Given the description of an element on the screen output the (x, y) to click on. 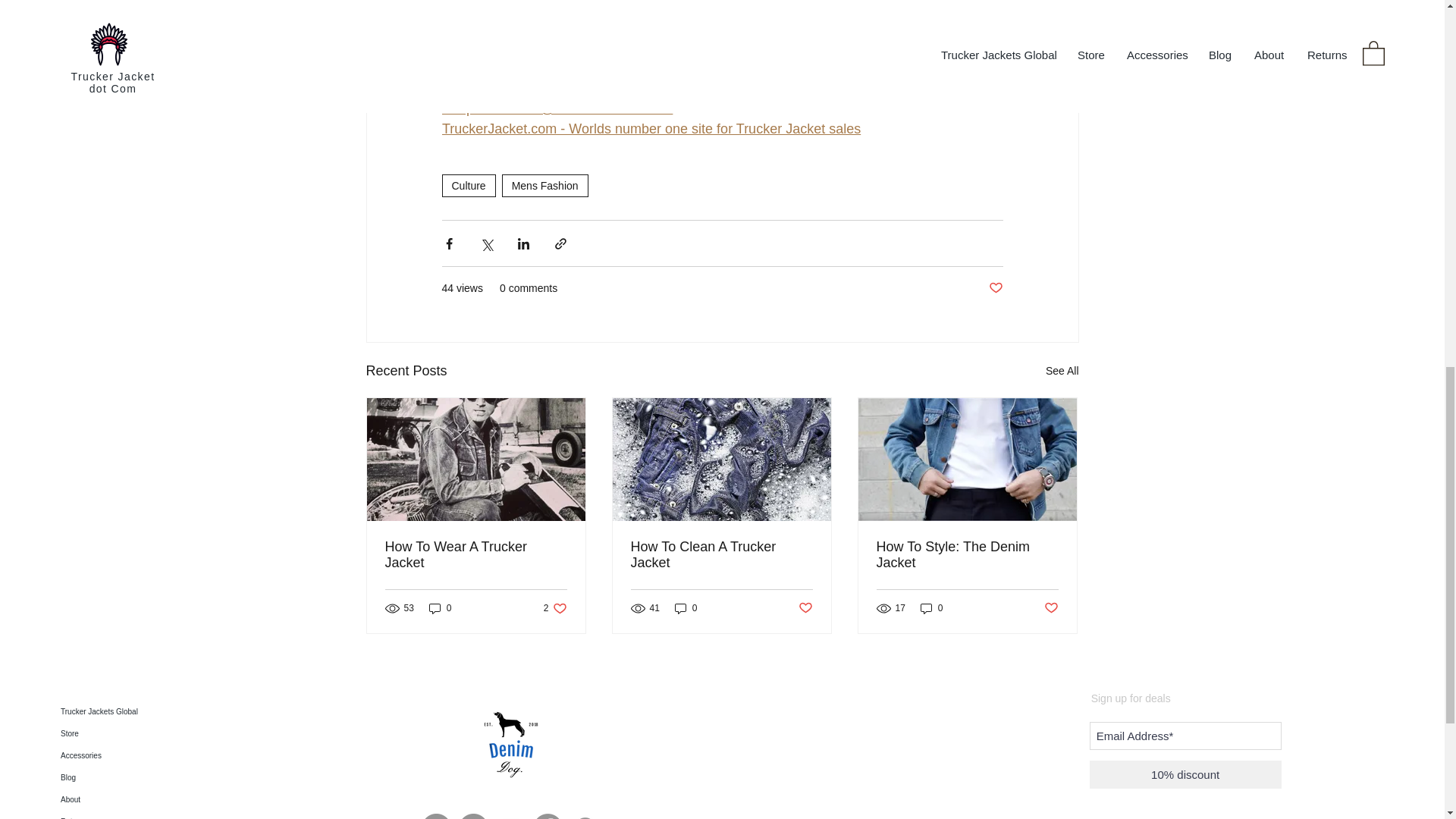
Return to Blog (484, 67)
How To Clean A Trucker Jacket (721, 554)
0 (440, 608)
00:27 (458, 6)
See All (1061, 371)
0 (685, 608)
How To Wear A Trucker Jacket (476, 554)
Post not marked as liked (555, 608)
